Given the description of an element on the screen output the (x, y) to click on. 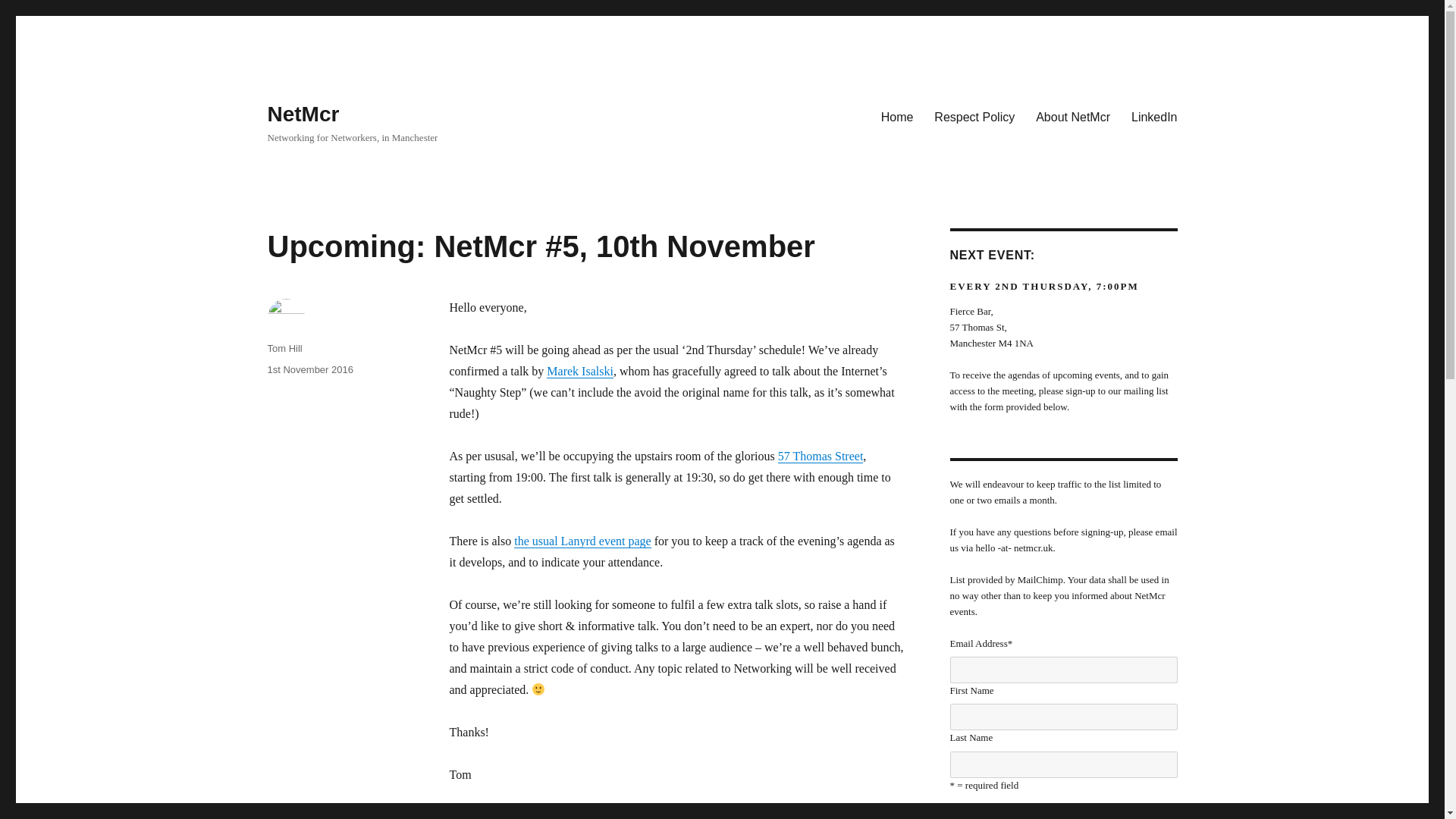
About NetMcr (1073, 116)
Marek Isalski (579, 370)
LinkedIn (1154, 116)
Home (897, 116)
1st November 2016 (309, 369)
Tom Hill (283, 348)
Respect Policy (974, 116)
57 Thomas Street (820, 455)
the usual Lanyrd event page (581, 540)
NetMcr (302, 114)
